Given the description of an element on the screen output the (x, y) to click on. 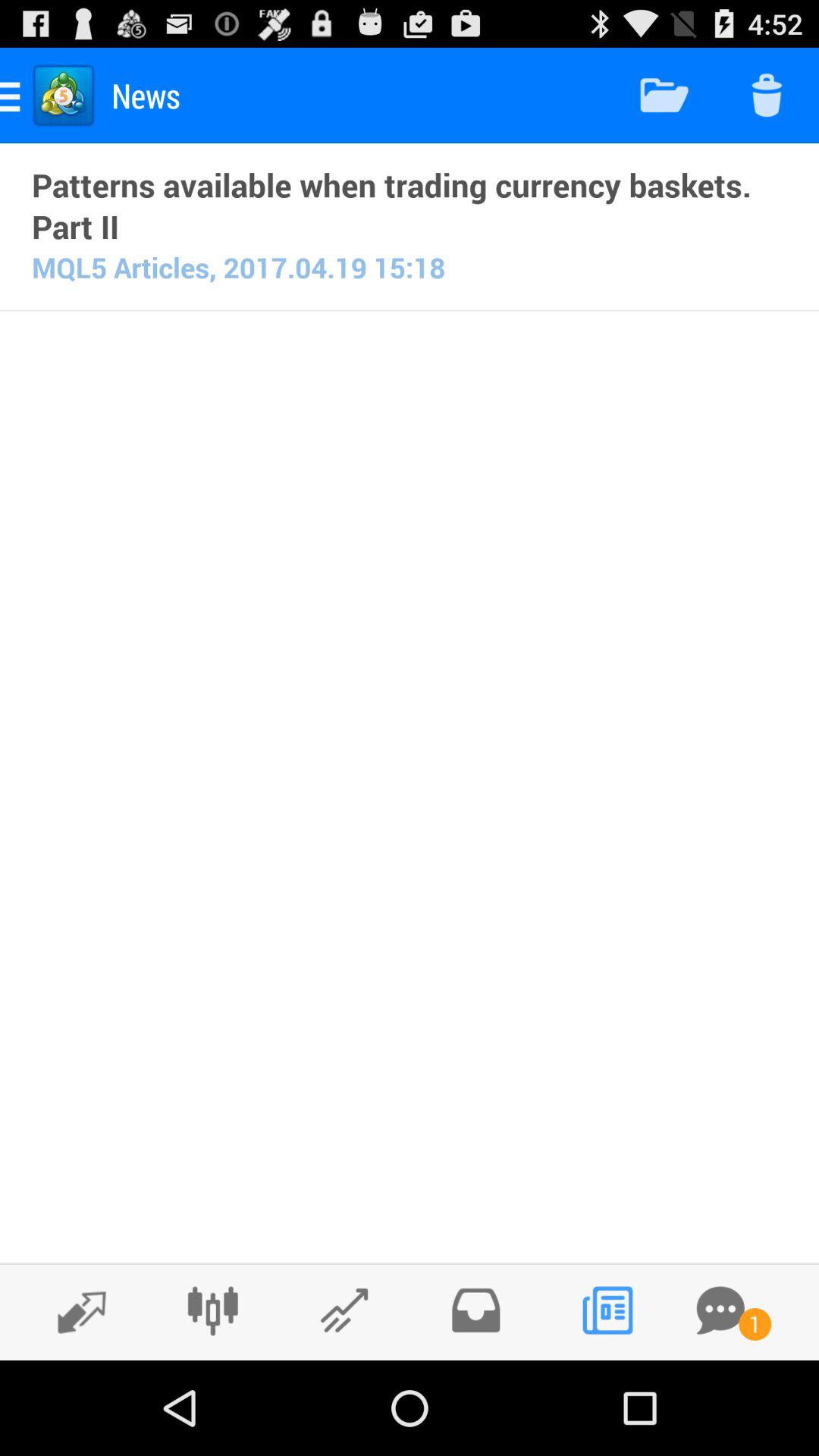
stock market updates (344, 1310)
